Given the description of an element on the screen output the (x, y) to click on. 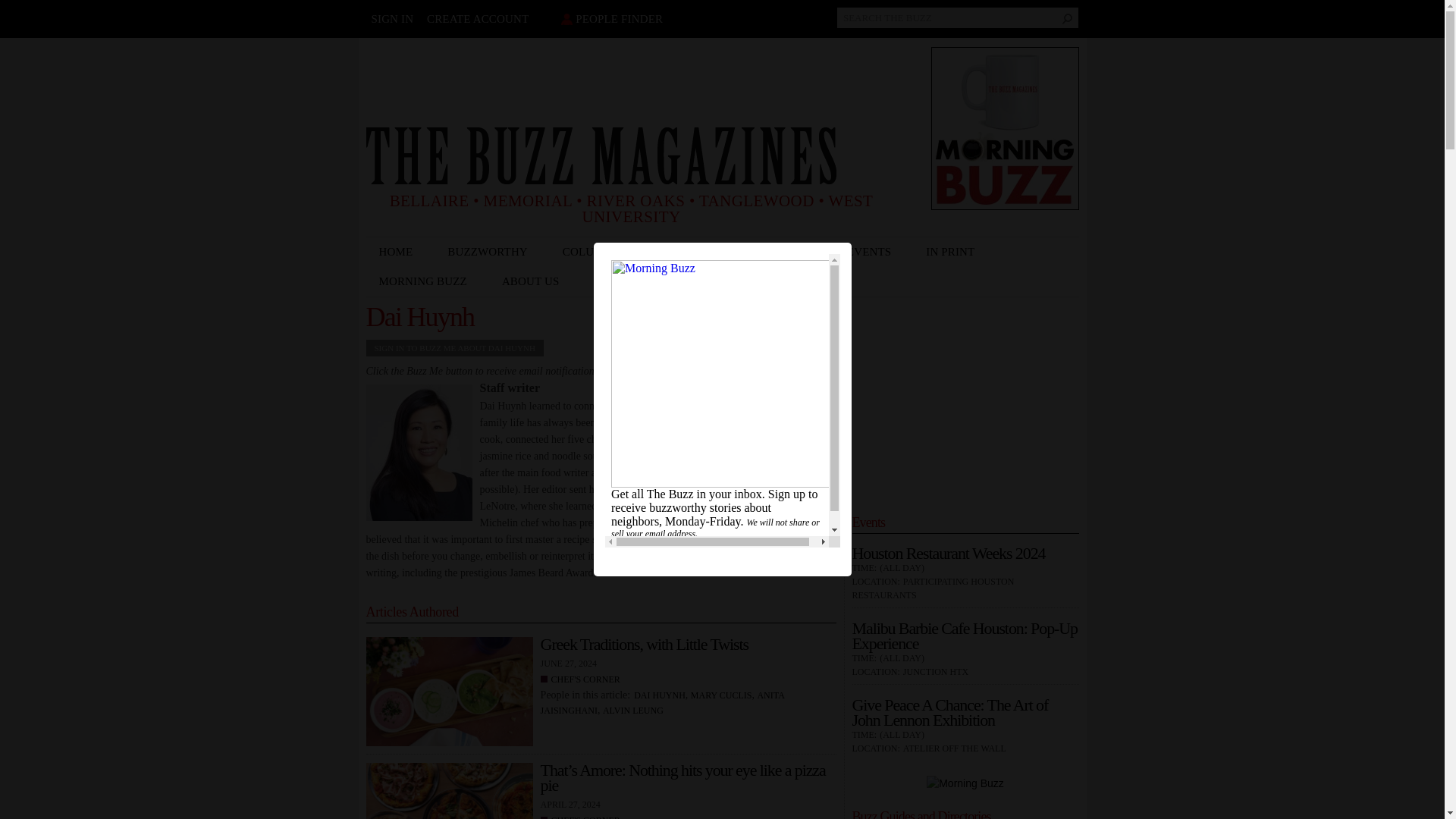
HOME (399, 251)
SIGN IN (392, 19)
EVENTS (873, 251)
Various dips (452, 695)
Enter the terms you wish to search for. (957, 17)
pizzas (452, 790)
Morning Buzz (1004, 127)
CREATE ACCOUNT (477, 19)
3rd party ad content (641, 80)
PEOPLE FINDER (609, 19)
